Given the description of an element on the screen output the (x, y) to click on. 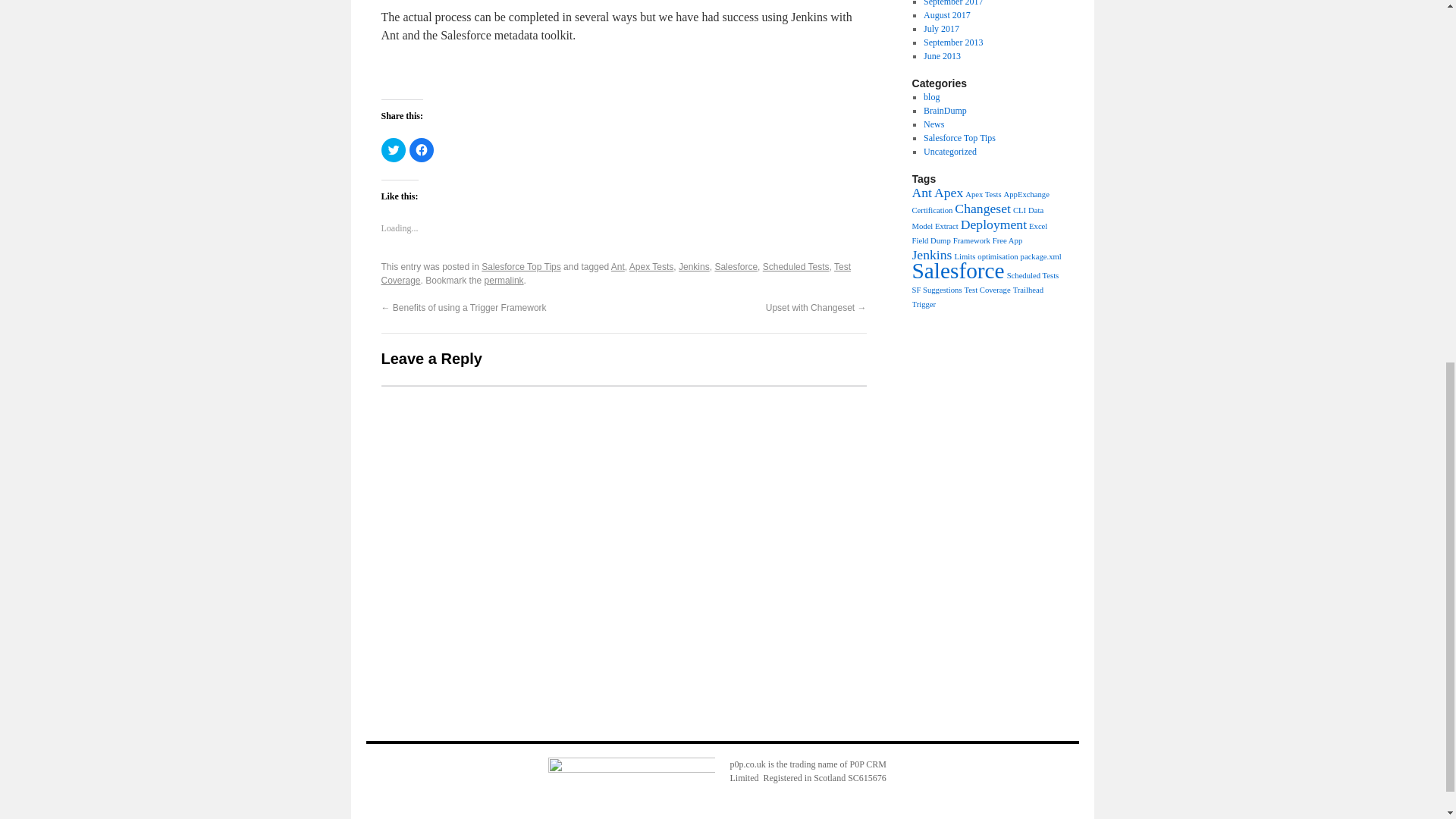
Jenkins (694, 266)
Salesforce (735, 266)
Permalink to Scheduling Salesforce Test Runs (504, 280)
permalink (504, 280)
Click to share on Facebook (421, 150)
Apex Tests (650, 266)
Test Coverage (615, 273)
Click to share on Twitter (392, 150)
Scheduled Tests (795, 266)
Ant (617, 266)
Salesforce Top Tips (520, 266)
